Given the description of an element on the screen output the (x, y) to click on. 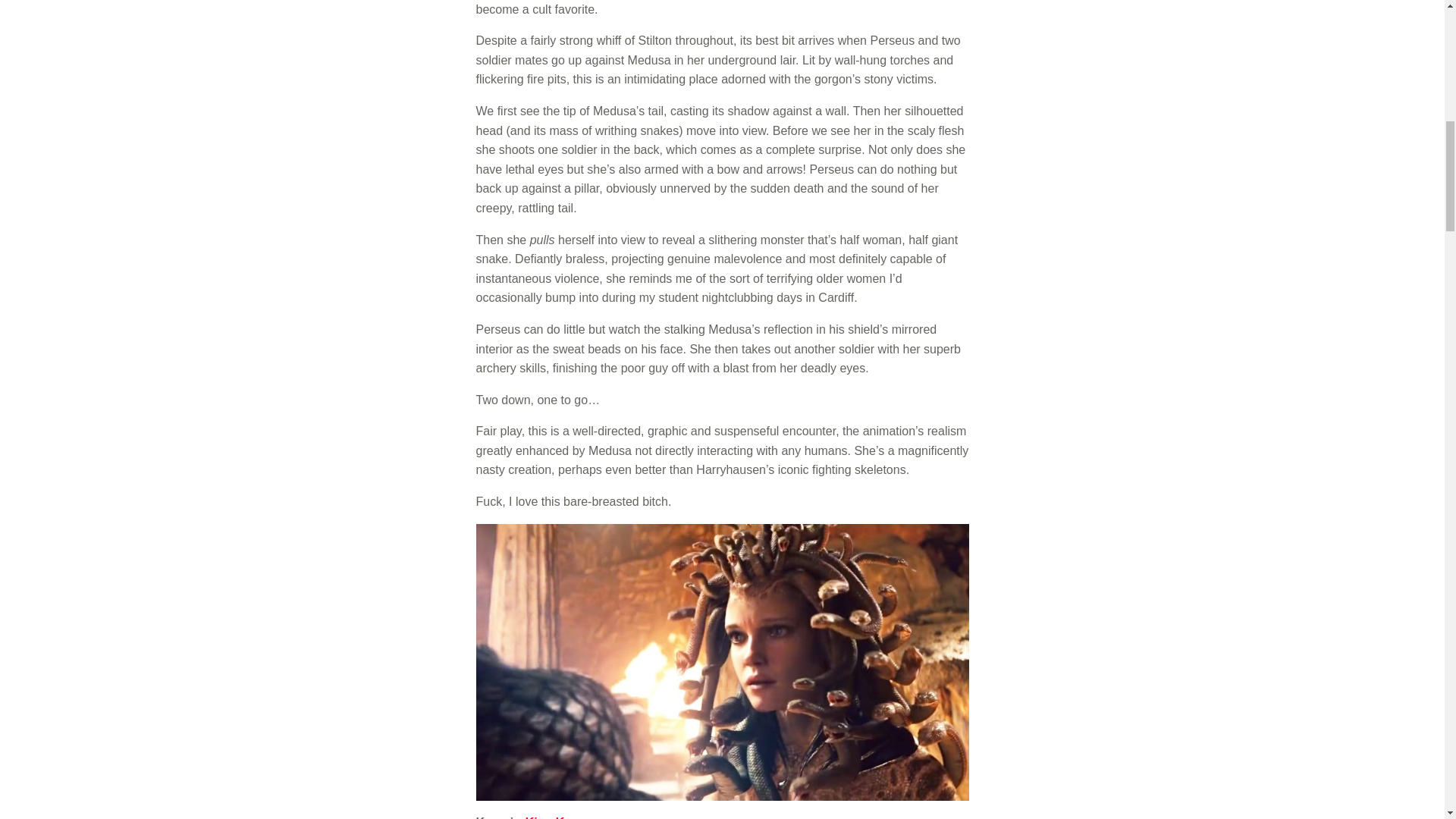
King Kong (554, 817)
